Given the description of an element on the screen output the (x, y) to click on. 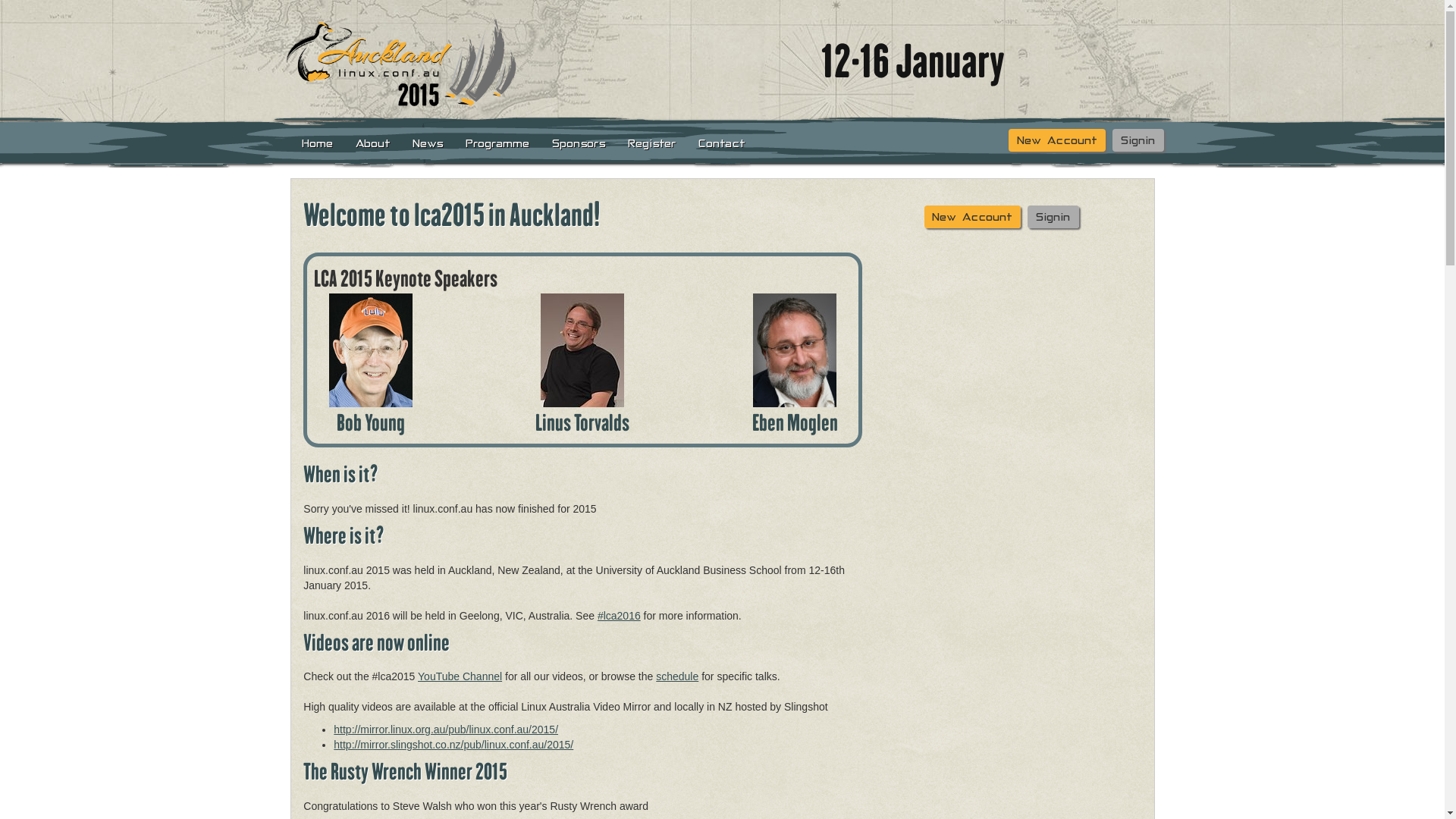
Eben Moglen Element type: text (794, 422)
schedule Element type: text (676, 676)
Programme Element type: text (498, 143)
#lca2016 Element type: text (618, 615)
Home Element type: text (316, 143)
Bob Young Element type: text (370, 422)
http://mirror.slingshot.co.nz/pub/linux.conf.au/2015/ Element type: text (453, 744)
News Element type: text (428, 143)
Contact Element type: text (721, 143)
Sponsors Element type: text (579, 143)
Signin Element type: text (1052, 216)
About Element type: text (372, 143)
New Account Element type: text (1056, 139)
Linus Torvalds Element type: text (582, 422)
YouTube Channel Element type: text (459, 676)
Signin Element type: text (1137, 139)
Register Element type: text (652, 143)
New Account Element type: text (971, 216)
http://mirror.linux.org.au/pub/linux.conf.au/2015/ Element type: text (445, 729)
